Given the description of an element on the screen output the (x, y) to click on. 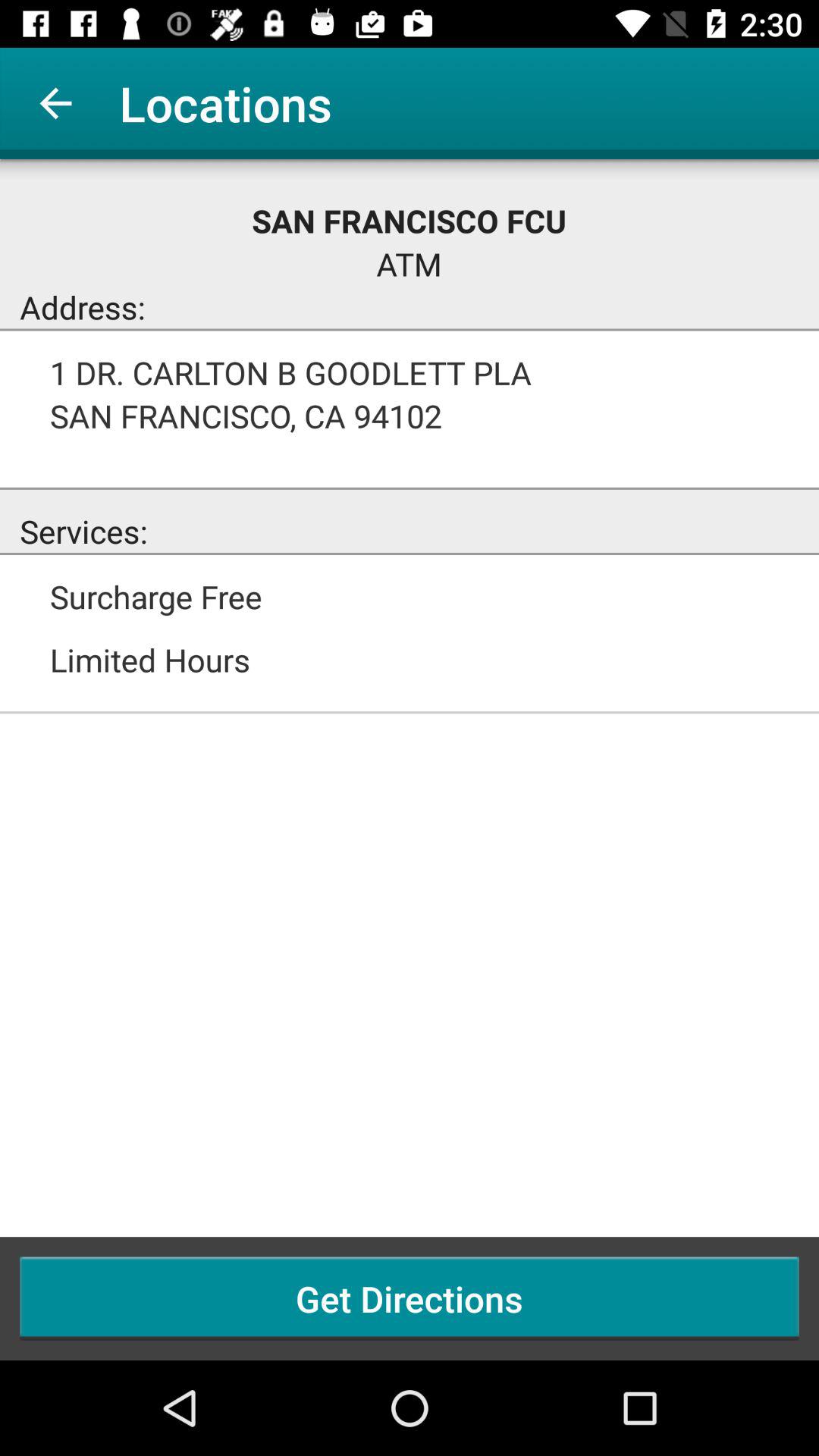
turn off icon to the left of locations (55, 103)
